Given the description of an element on the screen output the (x, y) to click on. 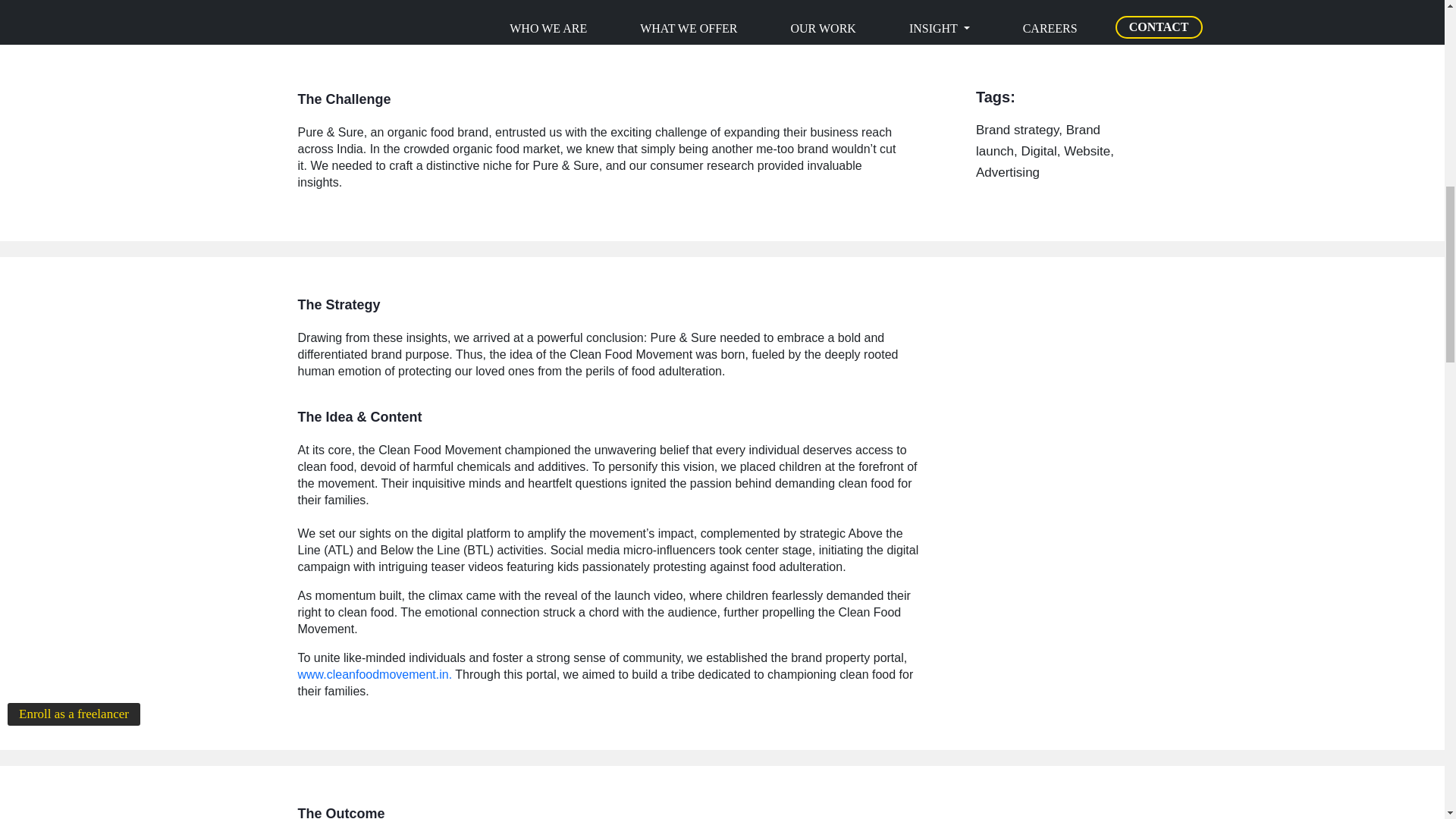
www.cleanfoodmovement.in. (374, 674)
